Given the description of an element on the screen output the (x, y) to click on. 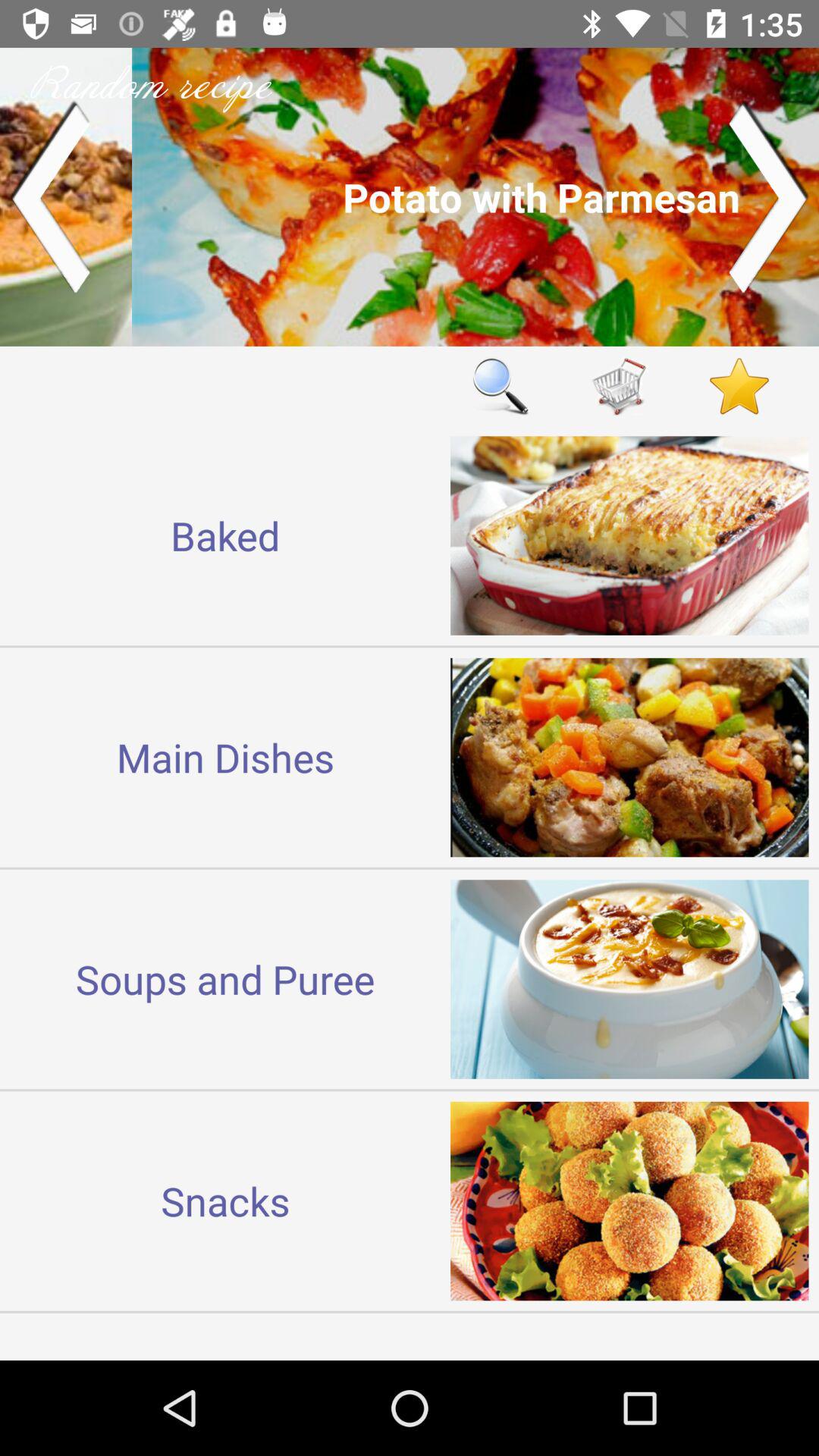
add to favourites (739, 385)
